Given the description of an element on the screen output the (x, y) to click on. 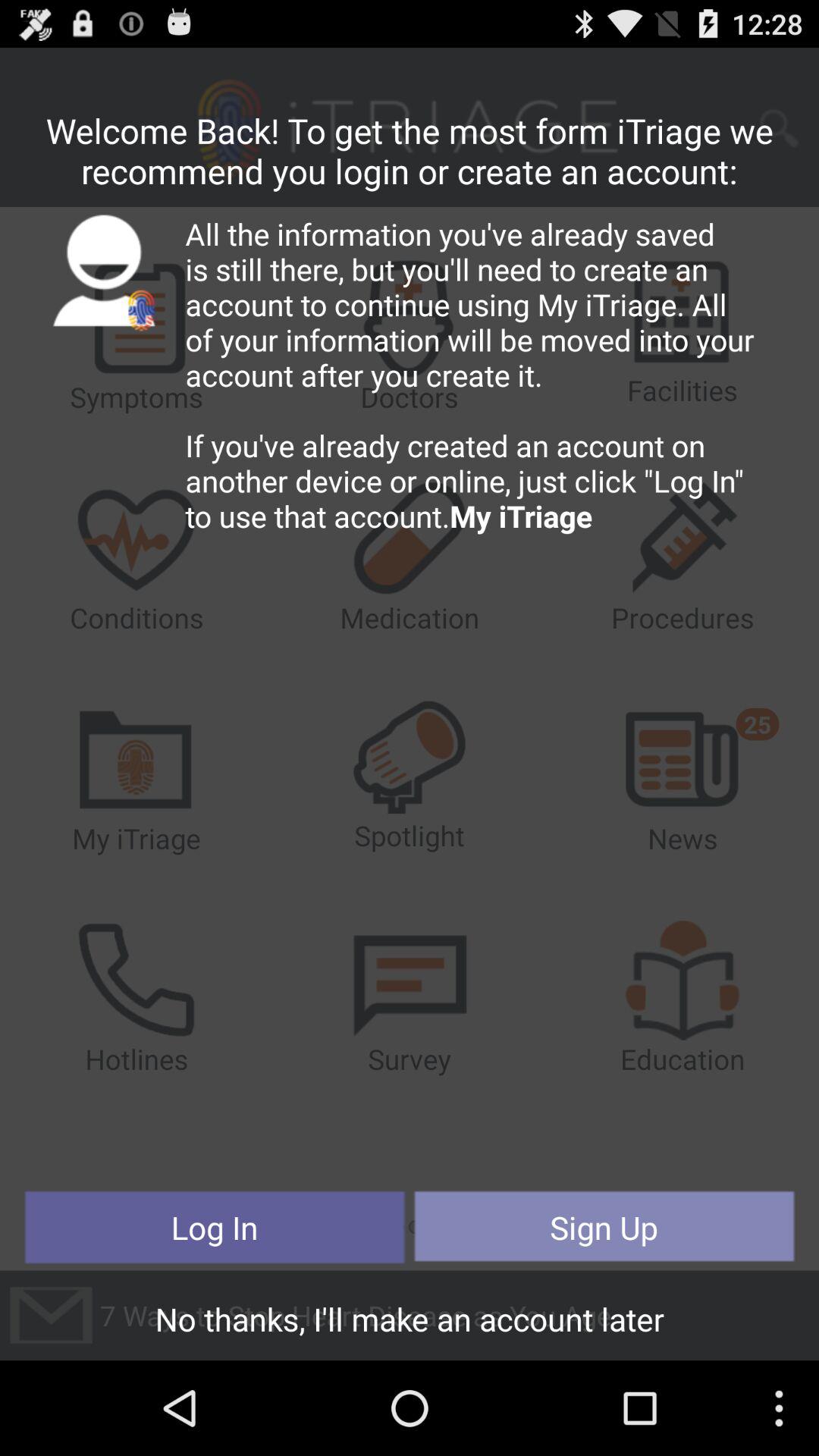
swipe to the no thanks i item (409, 1323)
